Given the description of an element on the screen output the (x, y) to click on. 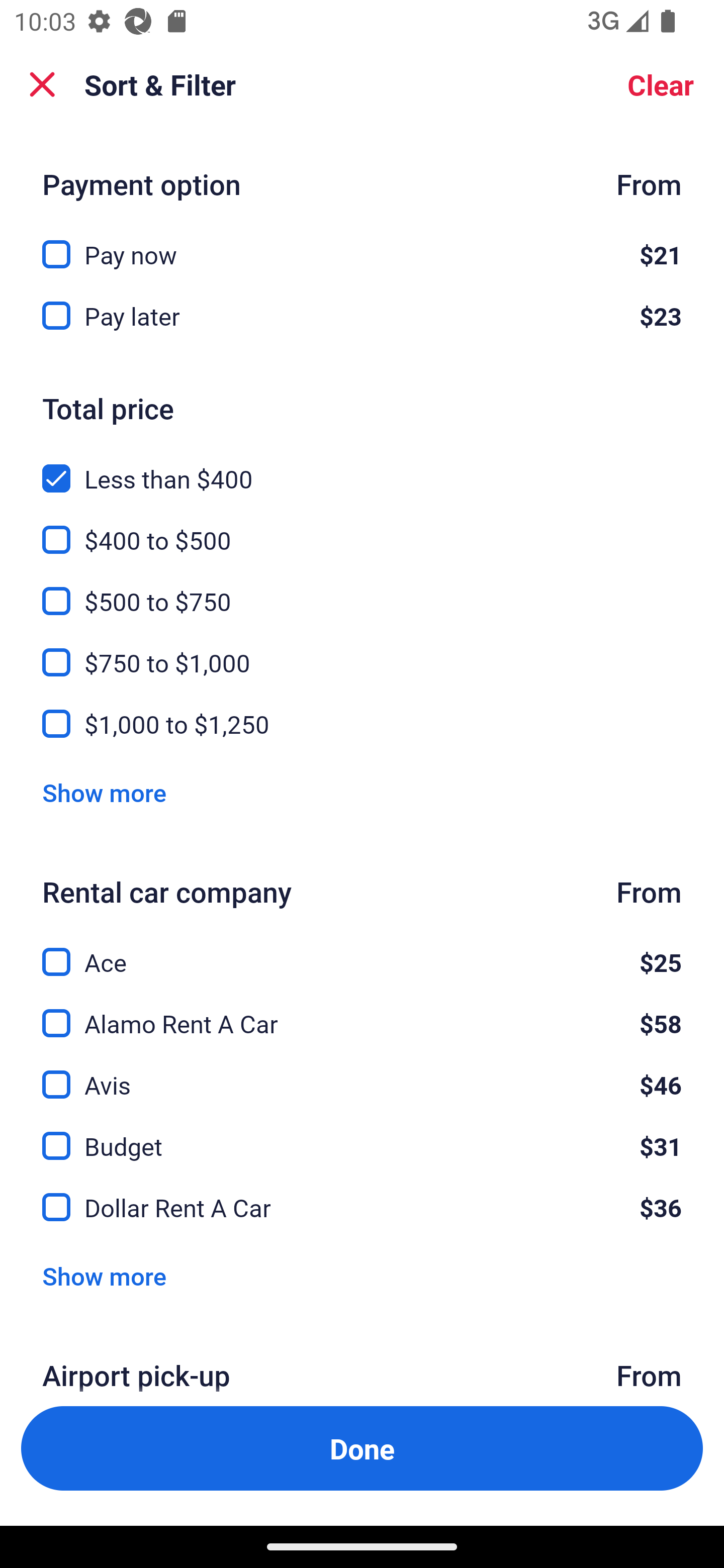
Close Sort and Filter (42, 84)
Clear (660, 84)
Pay now, $21 Pay now $21 (361, 243)
Pay later, $23 Pay later $23 (361, 316)
Less than $400, Less than $400 (361, 467)
$400 to $500, $400 to $500 (361, 528)
$500 to $750, $500 to $750 (361, 589)
$750 to $1,000, $750 to $1,000 (361, 651)
$1,000 to $1,250, $1,000 to $1,250 (361, 724)
Show more Show more Link (103, 792)
Ace, $25 Ace $25 (361, 950)
Alamo Rent A Car, $58 Alamo Rent A Car $58 (361, 1011)
Avis, $46 Avis $46 (361, 1072)
Budget, $31 Budget $31 (361, 1134)
Dollar Rent A Car, $36 Dollar Rent A Car $36 (361, 1207)
Show more Show more Link (103, 1276)
Apply and close Sort and Filter Done (361, 1448)
